Given the description of an element on the screen output the (x, y) to click on. 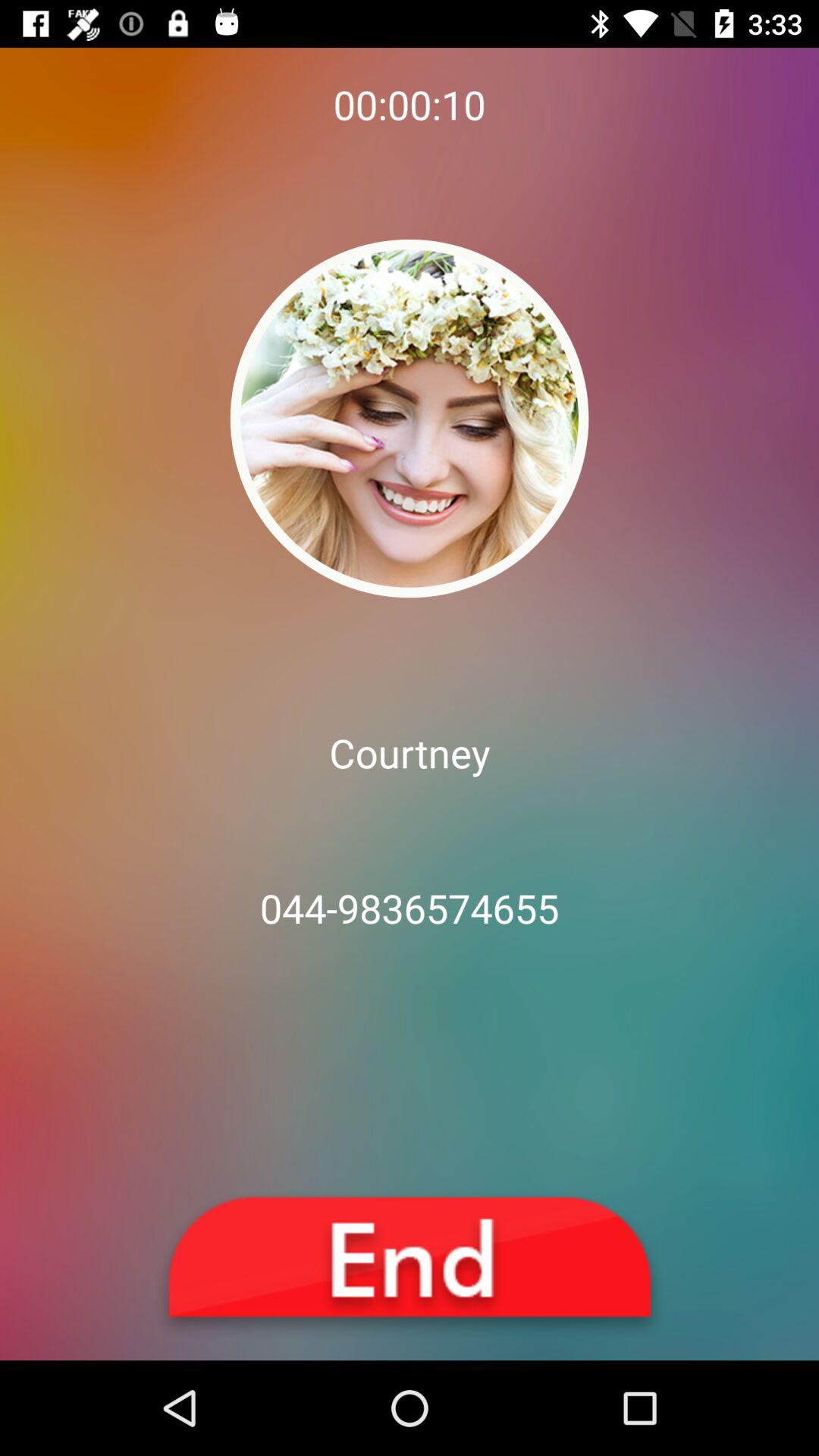
end it (409, 1264)
